Given the description of an element on the screen output the (x, y) to click on. 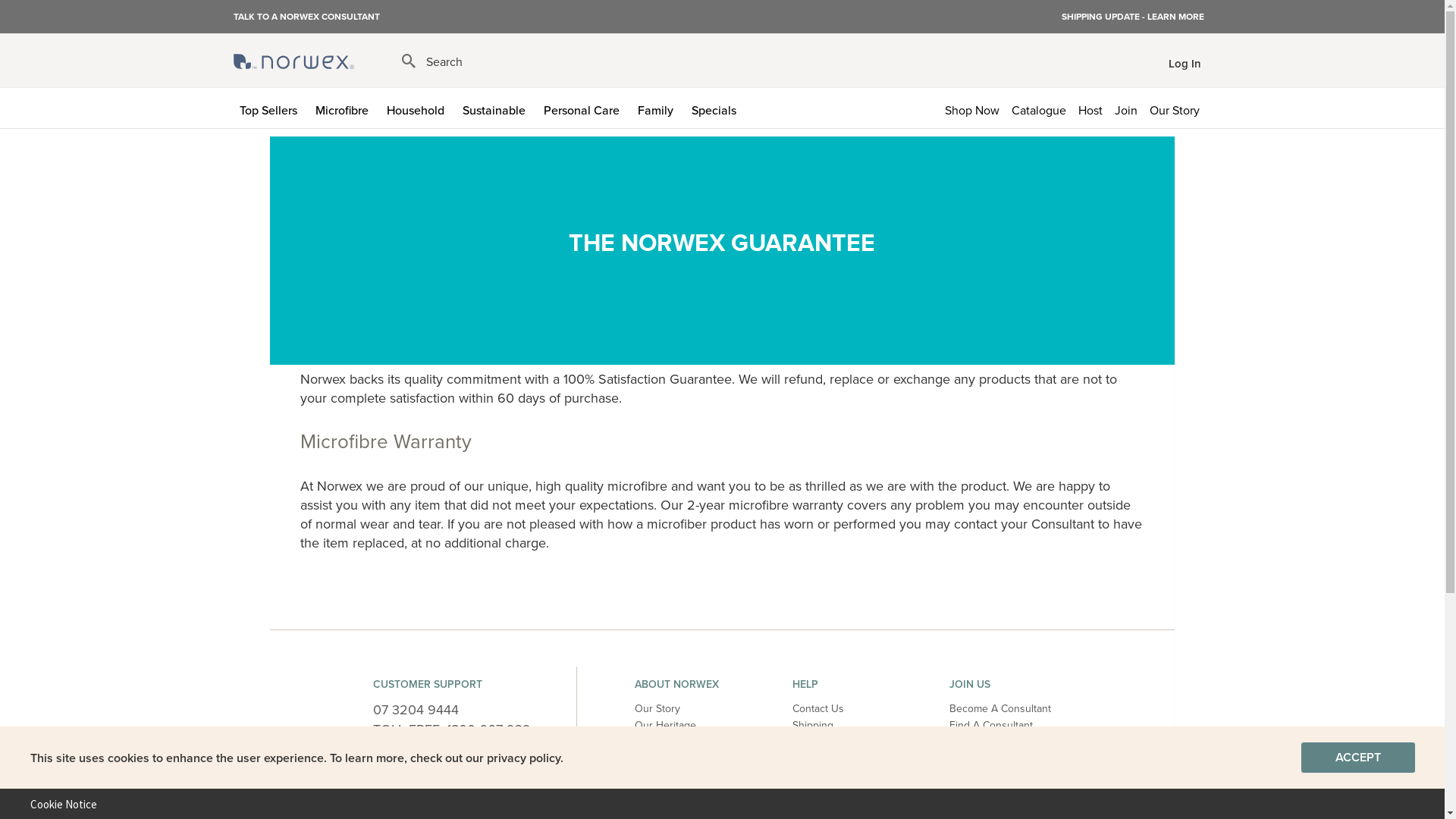
Product Mission Element type: text (829, 758)
AutoShip & Save Element type: text (673, 758)
About Norwex Microfibre Element type: text (693, 741)
Join Element type: text (1125, 107)
Specials Element type: text (716, 107)
Contact Us Element type: text (818, 708)
Shipping Element type: text (812, 725)
Household Element type: text (418, 107)
Host A Norwex Party Element type: text (998, 741)
Catalogue Element type: text (1038, 107)
Cookie Notice Element type: text (57, 803)
Find A Consultant Element type: text (990, 725)
Become A Consultant Element type: text (1000, 708)
TALK TO A NORWEX CONSULTANT Element type: text (306, 15)
SHIPPING UPDATE - LEARN MORE Element type: text (1132, 16)
Top Sellers Element type: text (271, 107)
Shop Now Element type: text (971, 107)
Family Element type: text (657, 107)
Our Story Element type: text (1177, 107)
Product Guarantee Element type: text (836, 741)
Our Heritage Element type: text (665, 725)
Personal Care Element type: text (583, 107)
Search Element type: text (431, 61)
Our Story Element type: text (657, 708)
ACCEPT Element type: text (1357, 757)
Microfibre Element type: text (344, 107)
Product Catalogue Element type: text (835, 792)
Sustainable Element type: text (496, 107)
Host Element type: text (1090, 107)
Ingredient Standards Element type: text (841, 775)
